Given the description of an element on the screen output the (x, y) to click on. 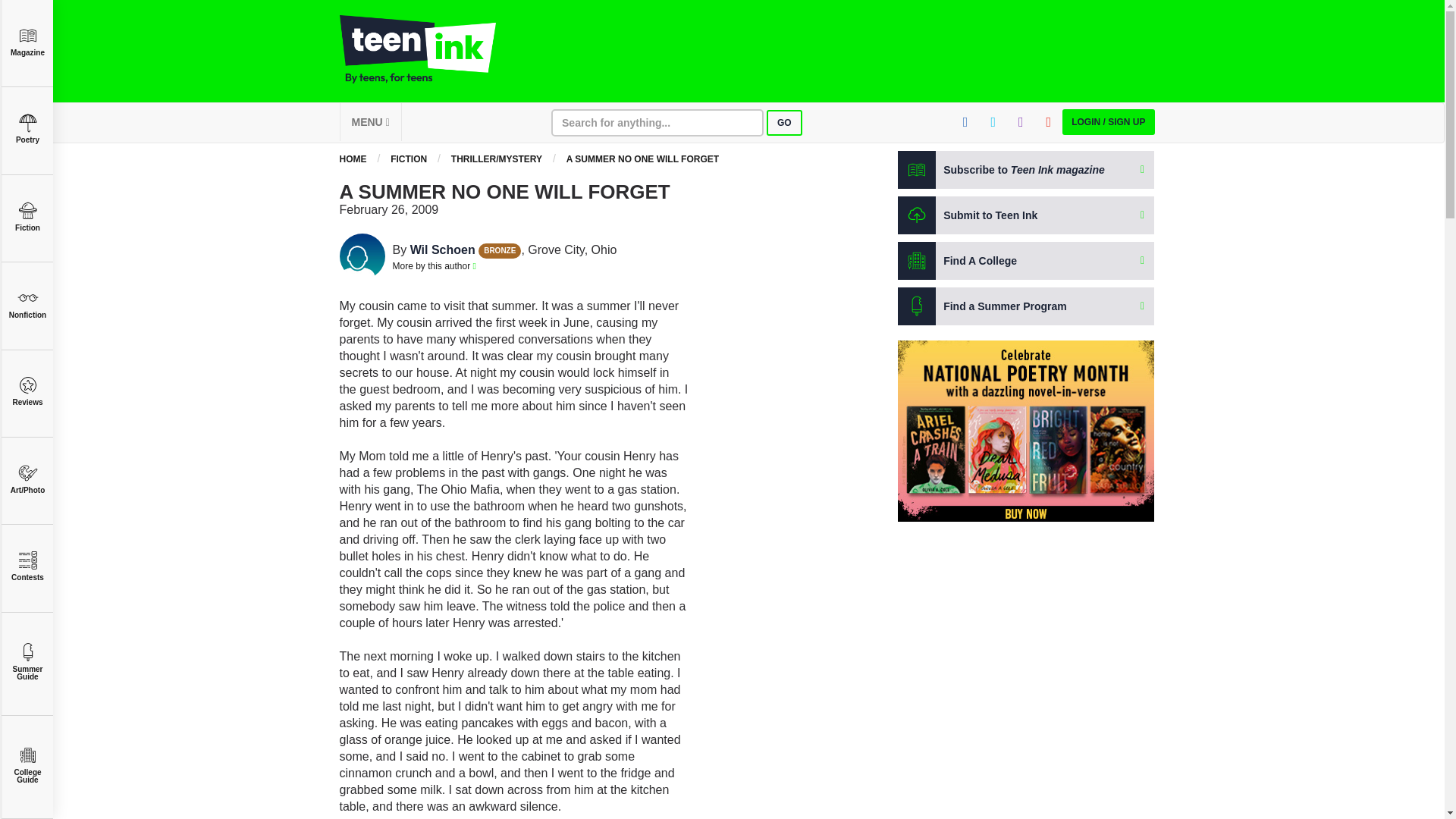
MENU (370, 121)
GO (784, 122)
Teen Ink (432, 49)
